Given the description of an element on the screen output the (x, y) to click on. 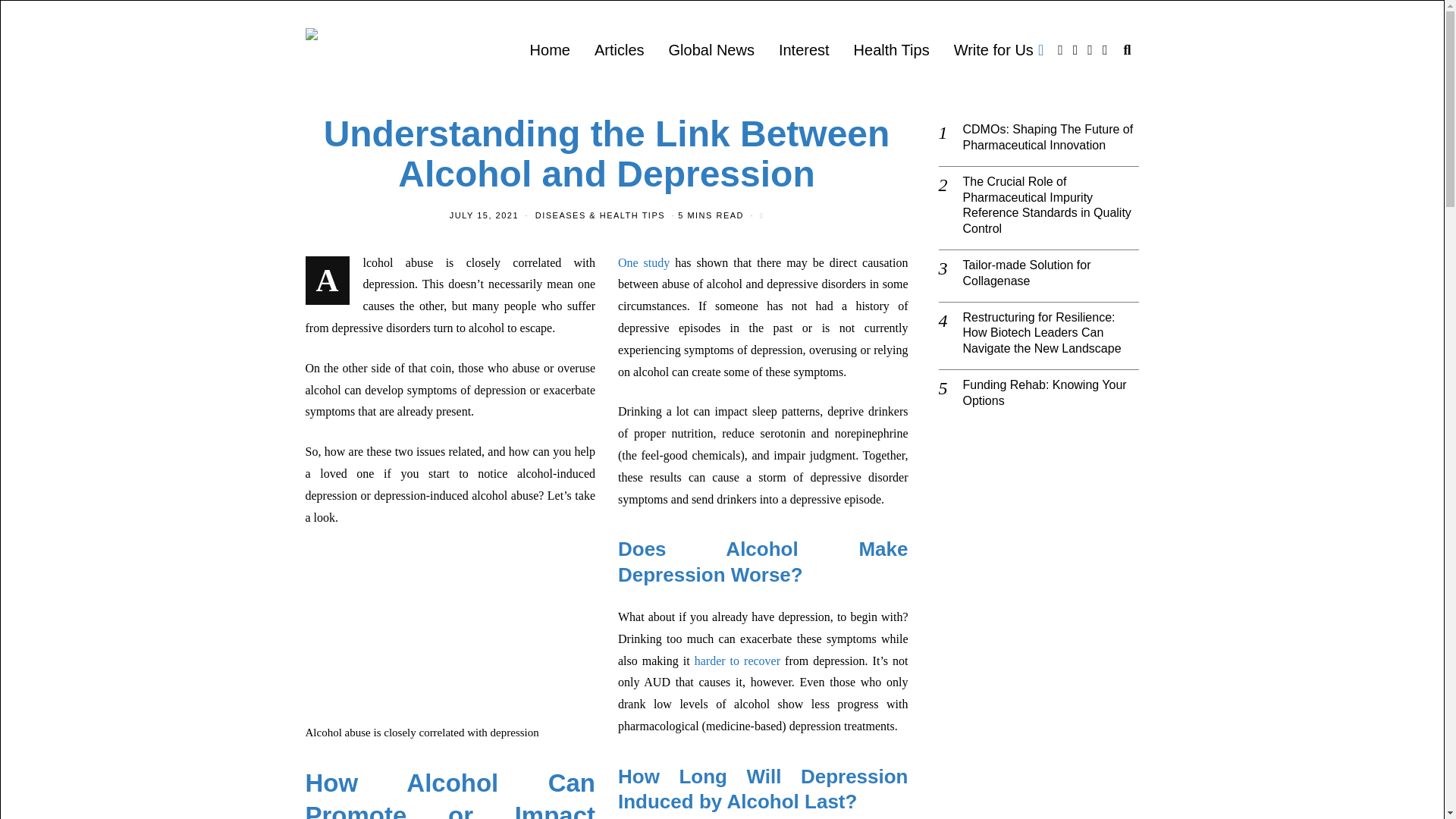
Home (549, 50)
Interest (804, 50)
One study (643, 262)
Global News (711, 50)
Health Tips (891, 50)
harder to recover (737, 659)
Articles (619, 50)
Write for Us (998, 50)
